Given the description of an element on the screen output the (x, y) to click on. 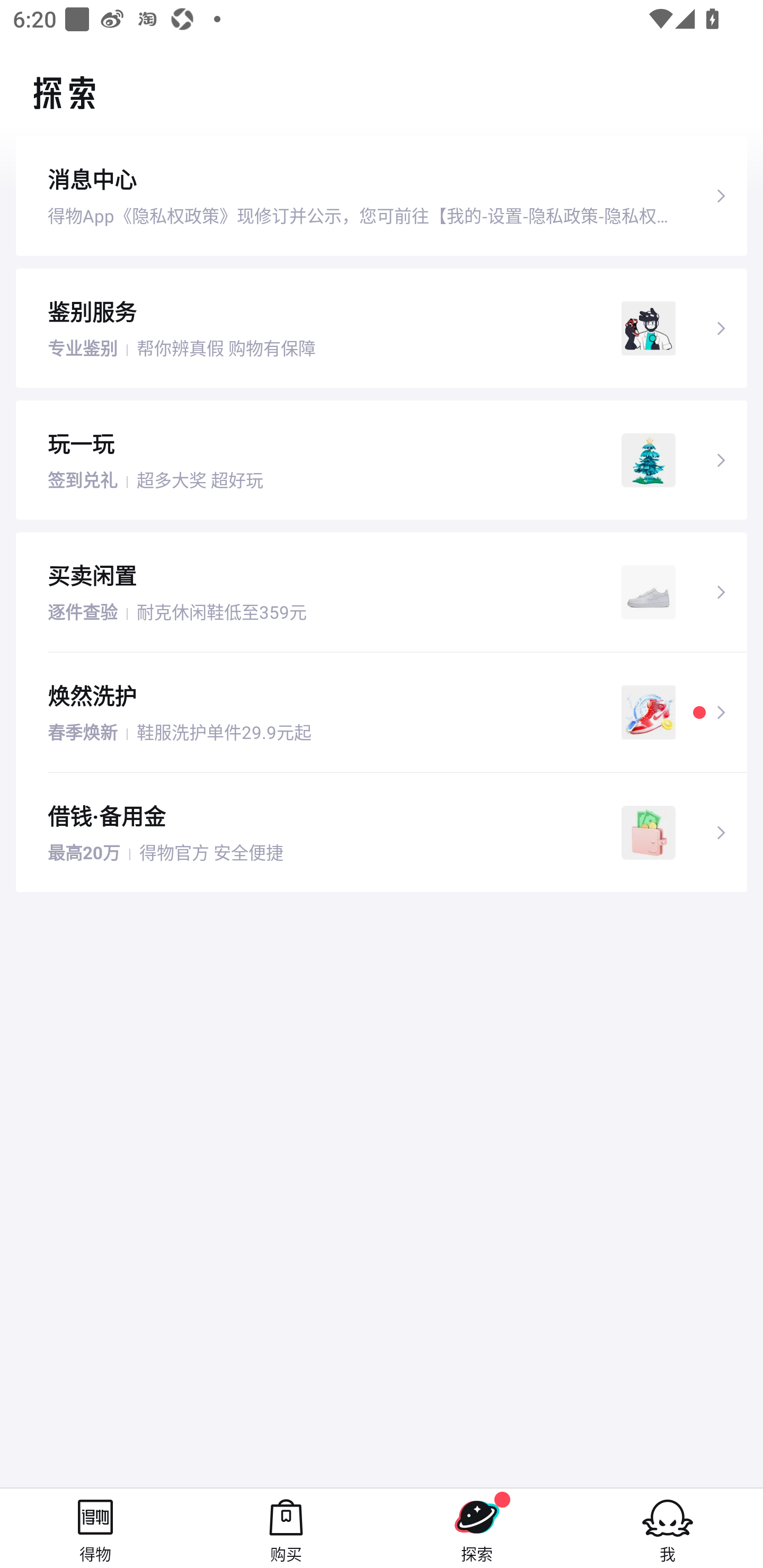
鉴别服务 专业鉴别 丨 帮你辨真假 购物有保障 (381, 327)
玩一玩 签到兑礼 丨 超多大奖 超好玩 (381, 459)
买卖闲置 逐件查验 丨 耐克休闲鞋低至359元 (381, 592)
焕然洗护 春季焕新 丨 鞋服洗护单件29.9元起 (381, 711)
借钱·备用金 最高20万 丨 得物官方 安全便捷 (381, 832)
得物 (95, 1528)
购买 (285, 1528)
探索 (476, 1528)
我 (667, 1528)
